Given the description of an element on the screen output the (x, y) to click on. 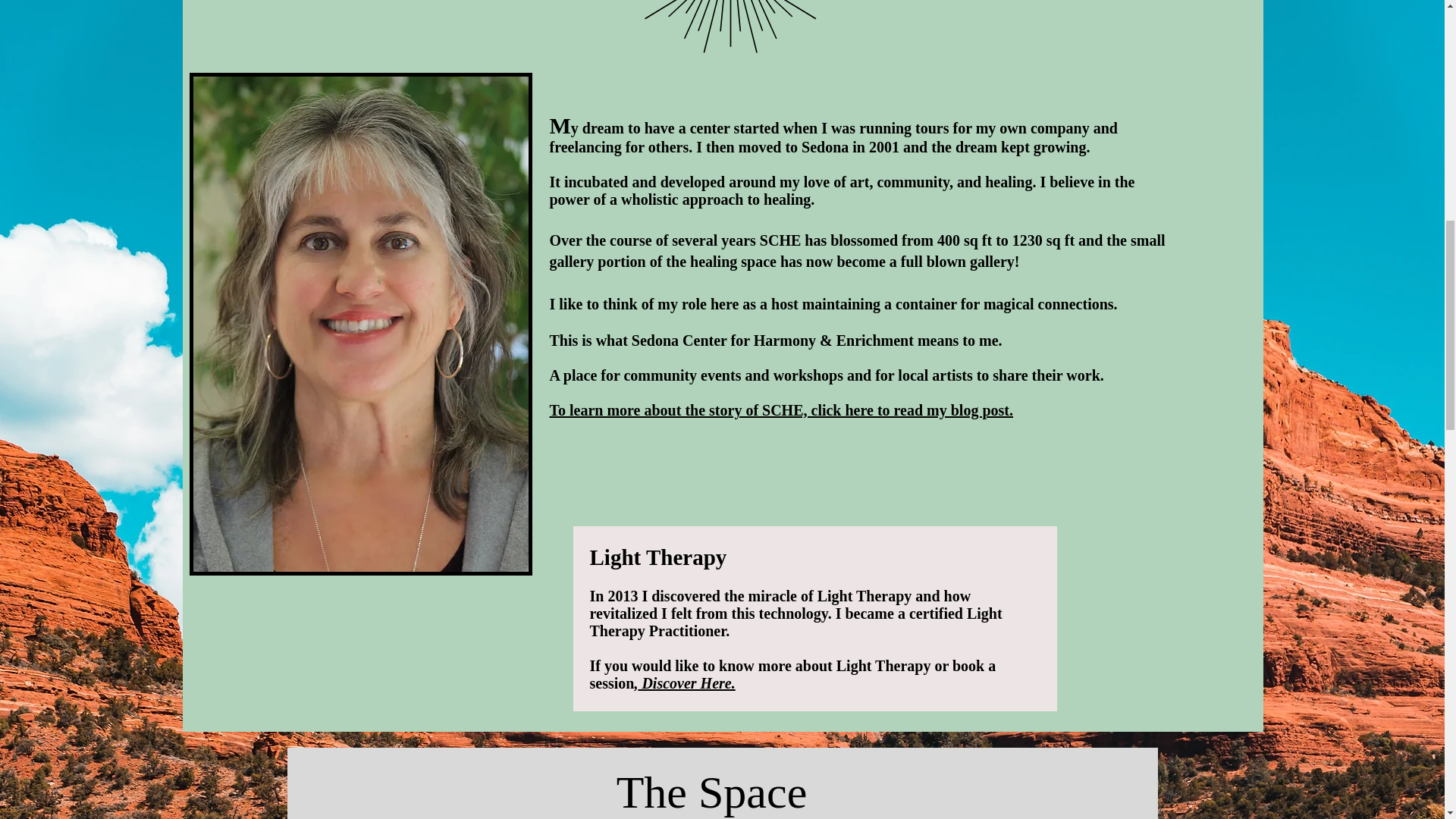
Discover Here. (686, 682)
